Given the description of an element on the screen output the (x, y) to click on. 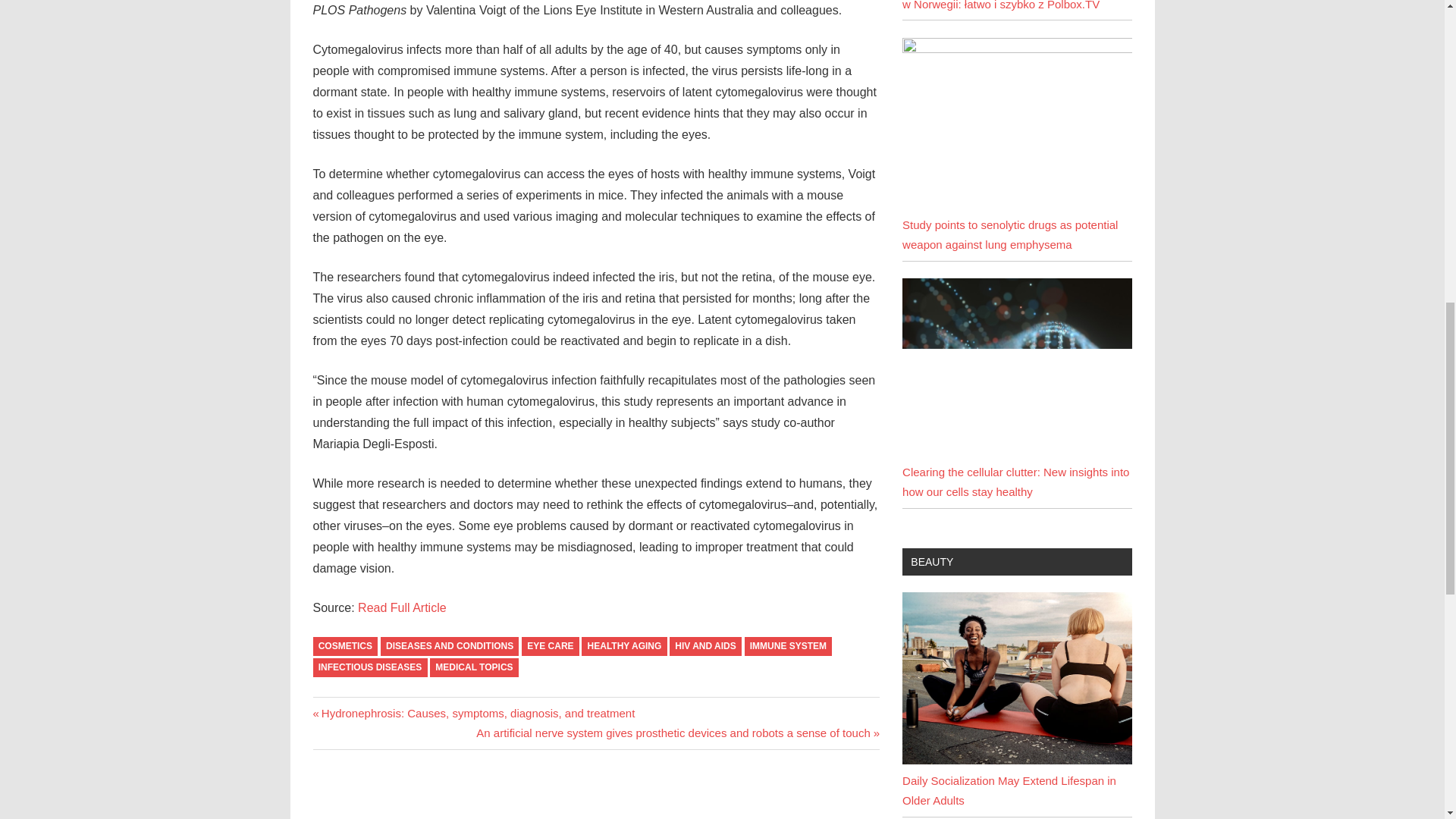
Daily Socialization May Extend Lifespan in Older Adults (1016, 759)
MEDICAL TOPICS (473, 667)
Daily Socialization May Extend Lifespan in Older Adults (1009, 789)
IMMUNE SYSTEM (788, 646)
INFECTIOUS DISEASES (369, 667)
Read Full Article (402, 607)
HIV AND AIDS (705, 646)
HEALTHY AGING (623, 646)
EYE CARE (550, 646)
